Given the description of an element on the screen output the (x, y) to click on. 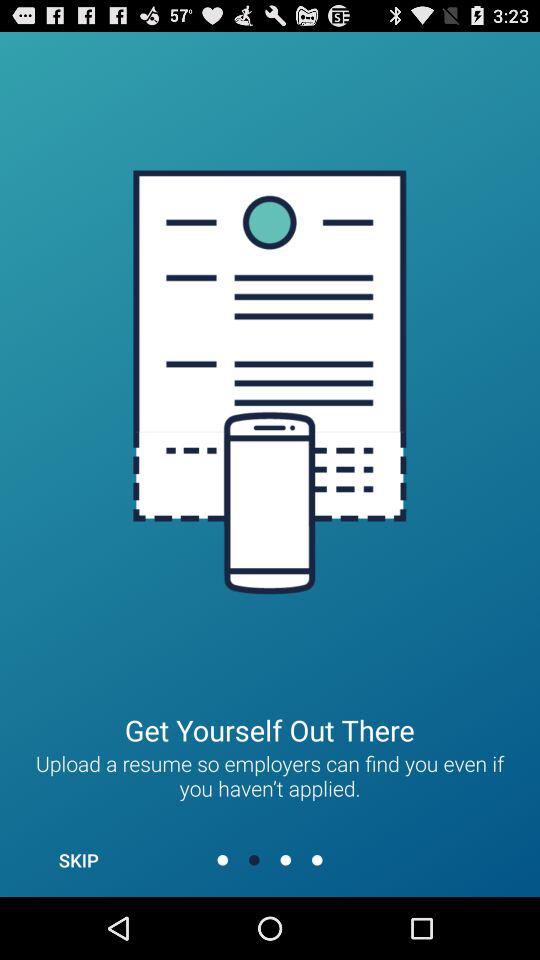
tap icon at the bottom left corner (78, 859)
